Given the description of an element on the screen output the (x, y) to click on. 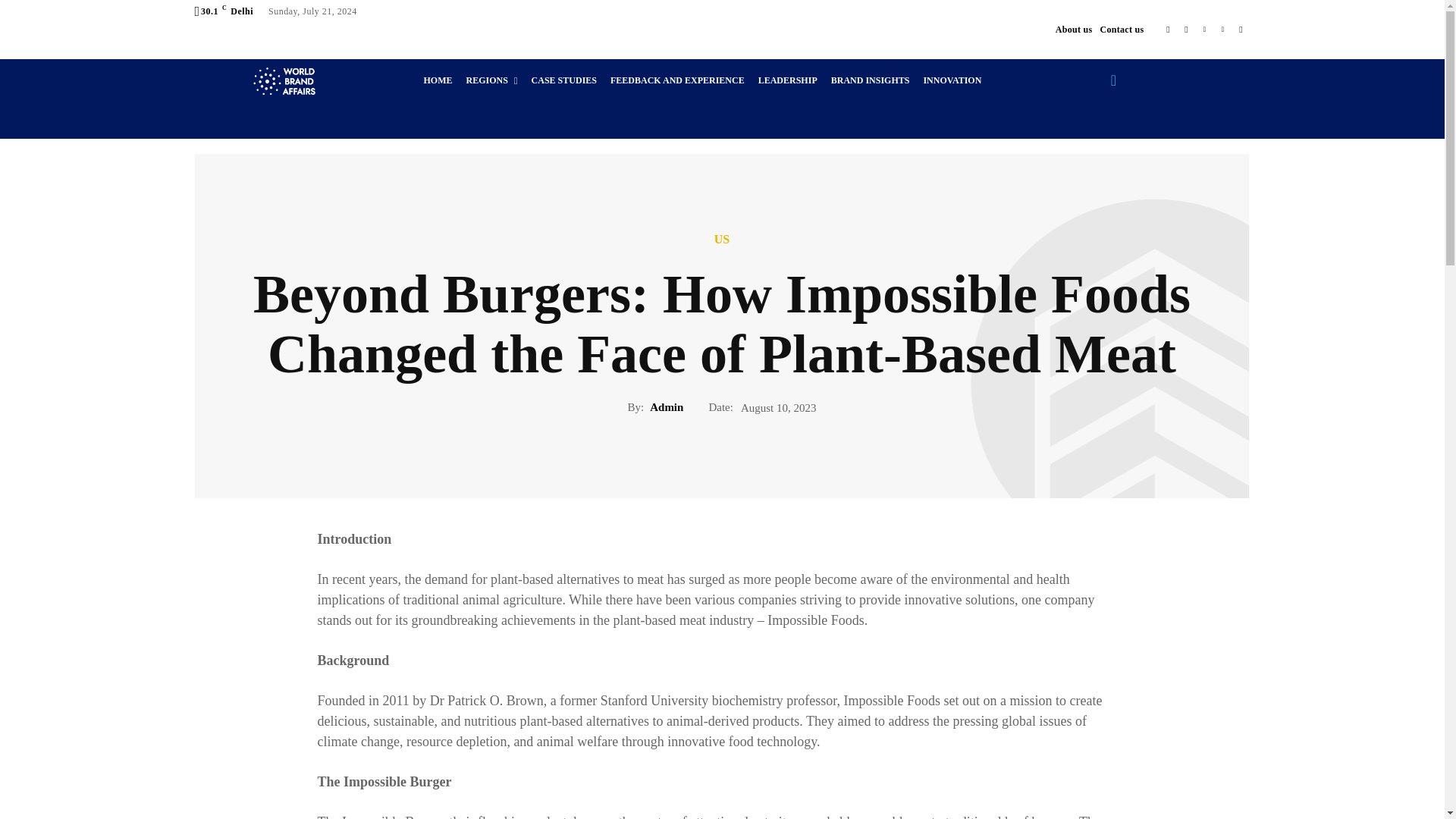
Contact us (1120, 29)
FEEDBACK AND EXPERIENCE (677, 80)
REGIONS (490, 80)
Linkedin (1203, 29)
BRAND INSIGHTS (870, 80)
Instagram (1185, 29)
HOME (437, 80)
Facebook (1167, 29)
LEADERSHIP (788, 80)
INNOVATION (951, 80)
Youtube (1240, 29)
CASE STUDIES (564, 80)
About us (1074, 29)
Twitter (1221, 29)
